Given the description of an element on the screen output the (x, y) to click on. 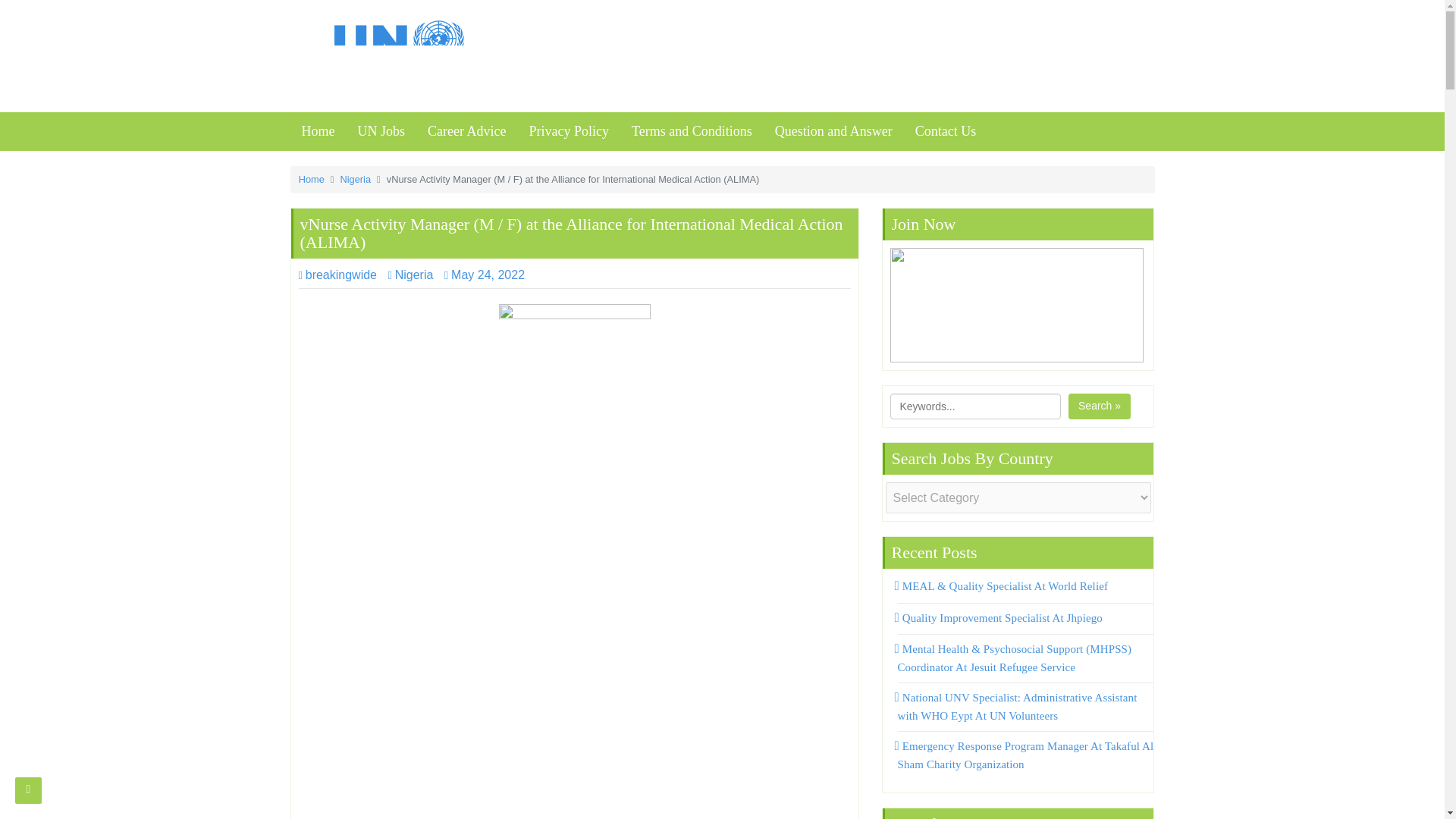
Home (317, 131)
Contact Us (946, 131)
breakingwide (337, 274)
Home (311, 179)
May 24, 2022 (488, 274)
Advertisement (574, 761)
Terms and Conditions (691, 131)
Quality Improvement Specialist At Jhpiego (1000, 617)
UN Jobs (381, 131)
Career Advice (466, 131)
